Given the description of an element on the screen output the (x, y) to click on. 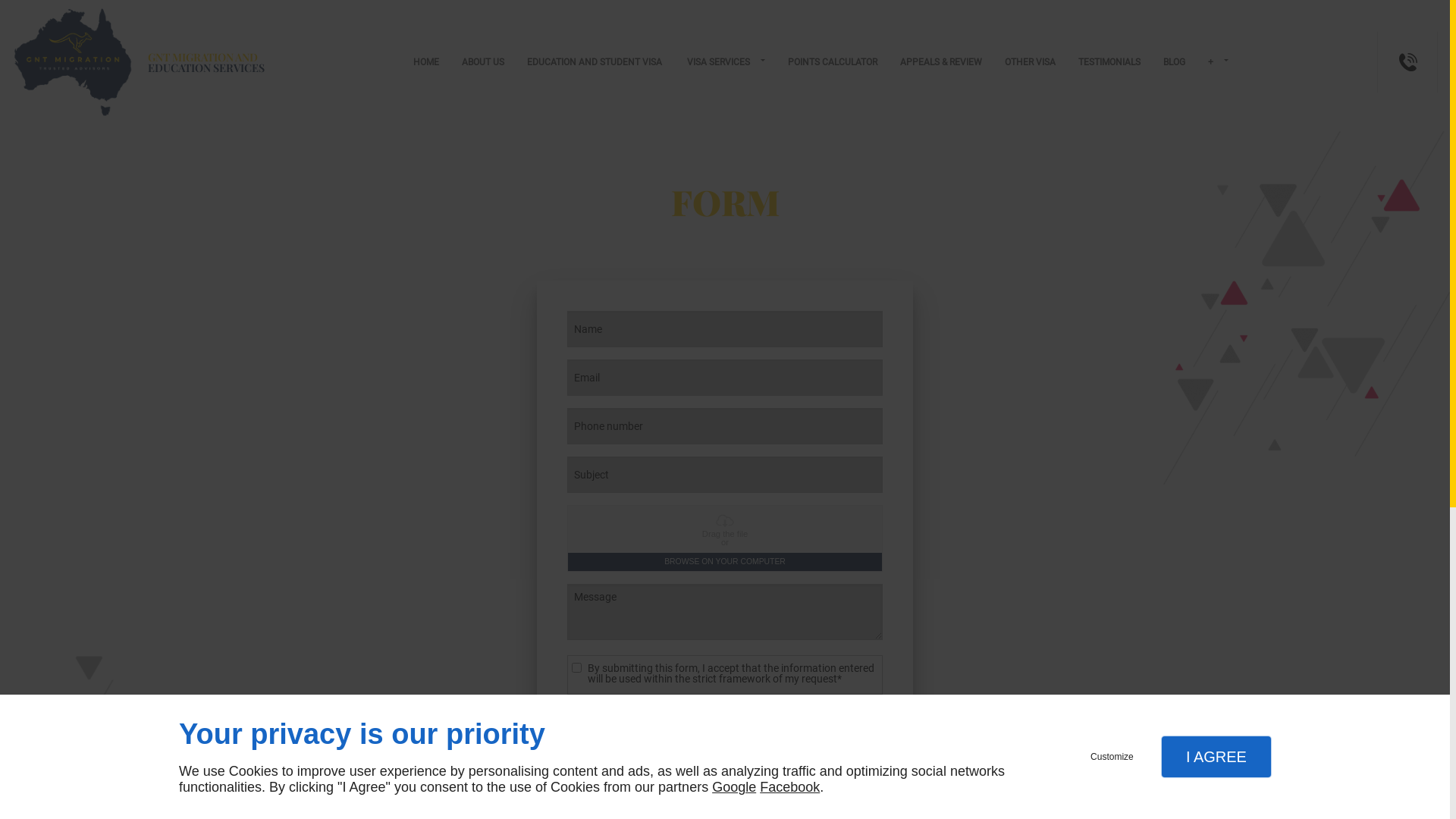
HOME Element type: text (425, 61)
Facebook Element type: text (789, 786)
POINTS CALCULATOR Element type: text (832, 61)
BLOG Element type: text (1173, 61)
GNT MIGRATION AND
EDUCATION SERVICES Element type: text (139, 61)
VISA SERVICES Element type: text (725, 61)
+ Element type: text (1217, 61)
APPEALS & REVIEW Element type: text (940, 61)
ABOUT US Element type: text (482, 61)
OTHER VISA Element type: text (1029, 61)
Google Element type: text (734, 786)
EDUCATION AND STUDENT VISA  Element type: text (595, 61)
TESTIMONIALS Element type: text (1108, 61)
